Given the description of an element on the screen output the (x, y) to click on. 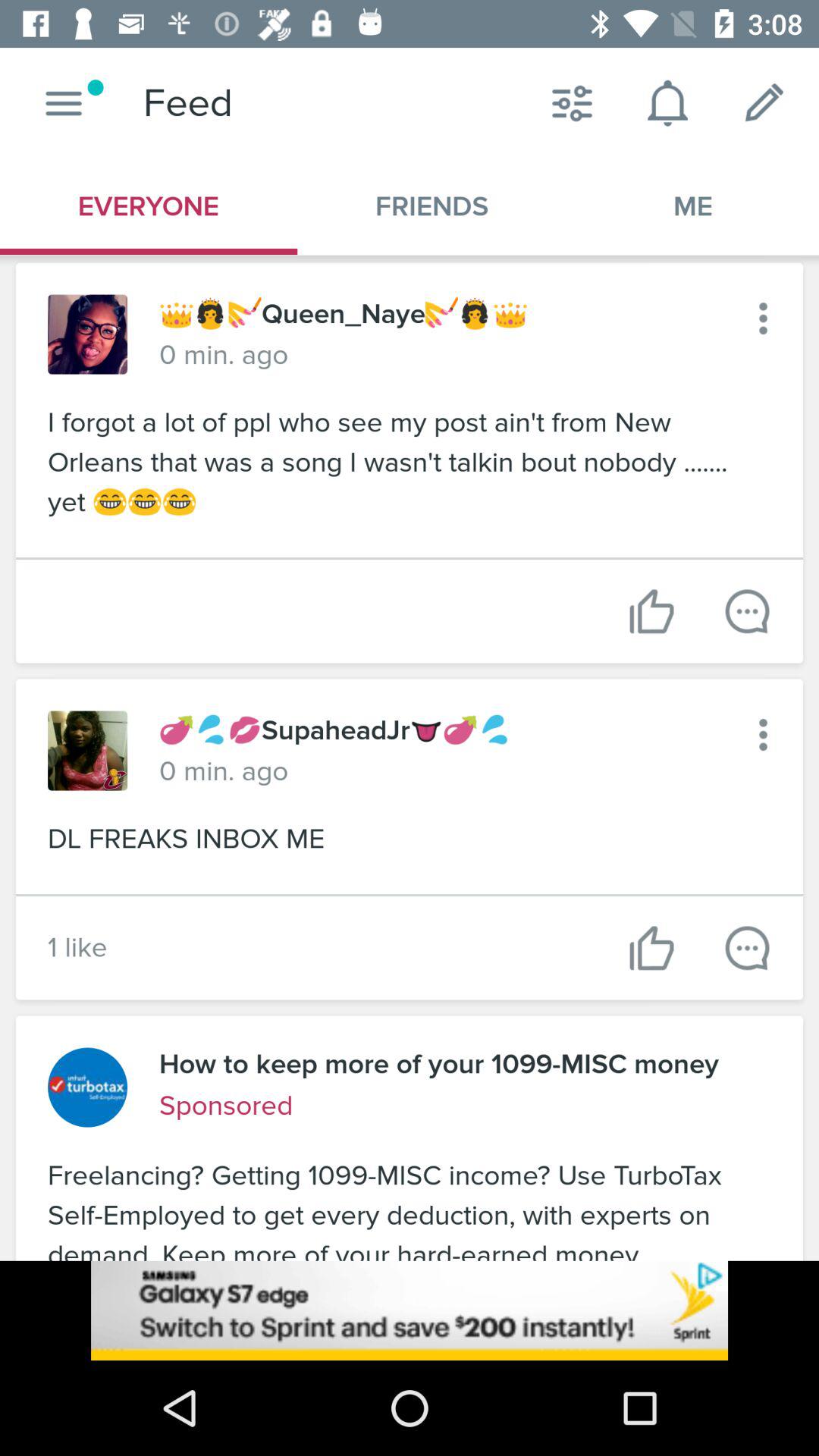
settings (763, 318)
